Given the description of an element on the screen output the (x, y) to click on. 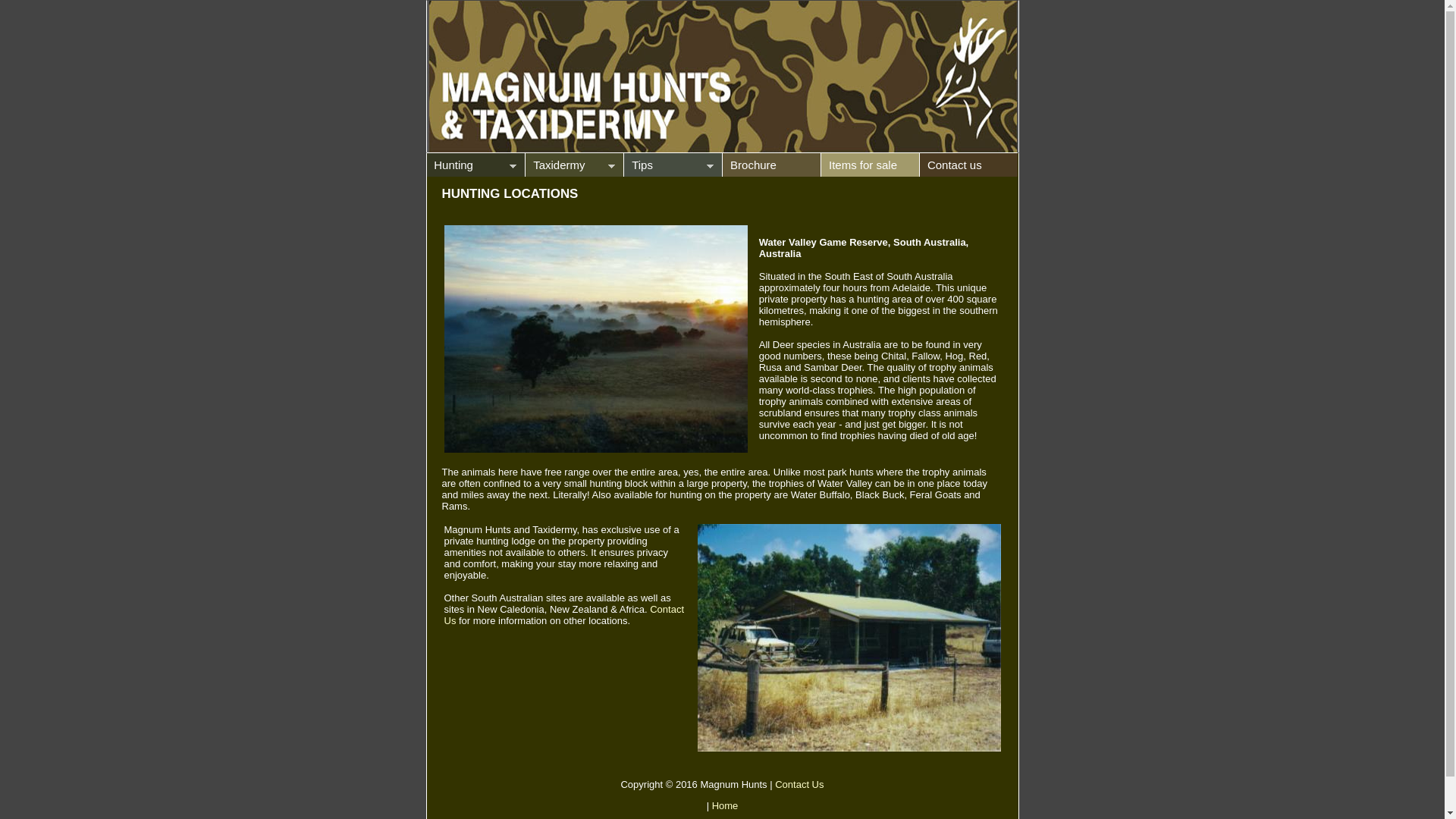
Items for sale Element type: text (869, 164)
Contact Us Element type: text (799, 784)
Brochure Element type: text (770, 164)
Contact us Element type: text (968, 164)
Contact Us Element type: text (564, 614)
